Given the description of an element on the screen output the (x, y) to click on. 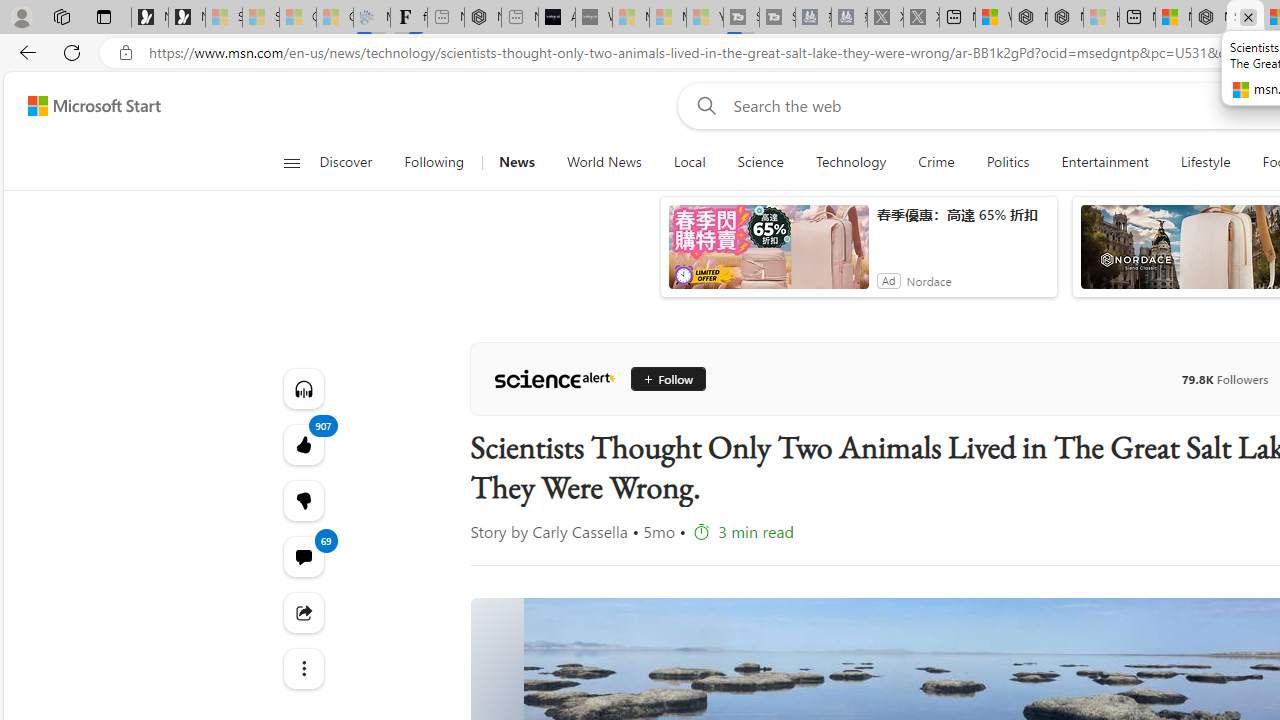
X - Sleeping (921, 17)
Local (689, 162)
anim-content (768, 255)
World News (603, 162)
Technology (851, 162)
Wildlife - MSN (993, 17)
Local (688, 162)
Skip to content (86, 105)
Microsoft Start Sports - Sleeping (630, 17)
Ad (888, 280)
Listen to this article (302, 388)
Web search (702, 105)
